Given the description of an element on the screen output the (x, y) to click on. 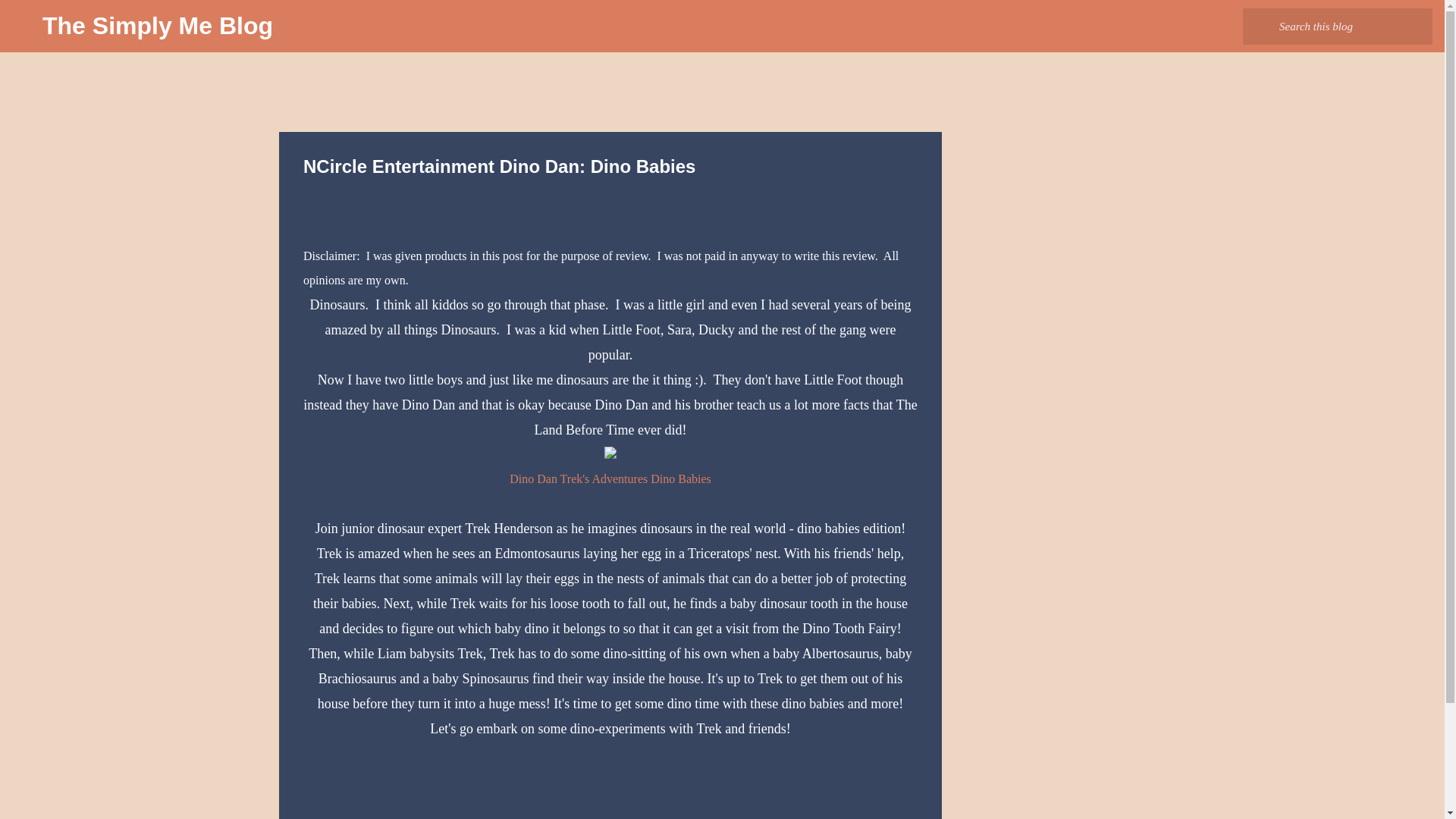
Dino Dan Trek's Adventures Dino Babies (610, 478)
The Simply Me Blog (157, 25)
